Given the description of an element on the screen output the (x, y) to click on. 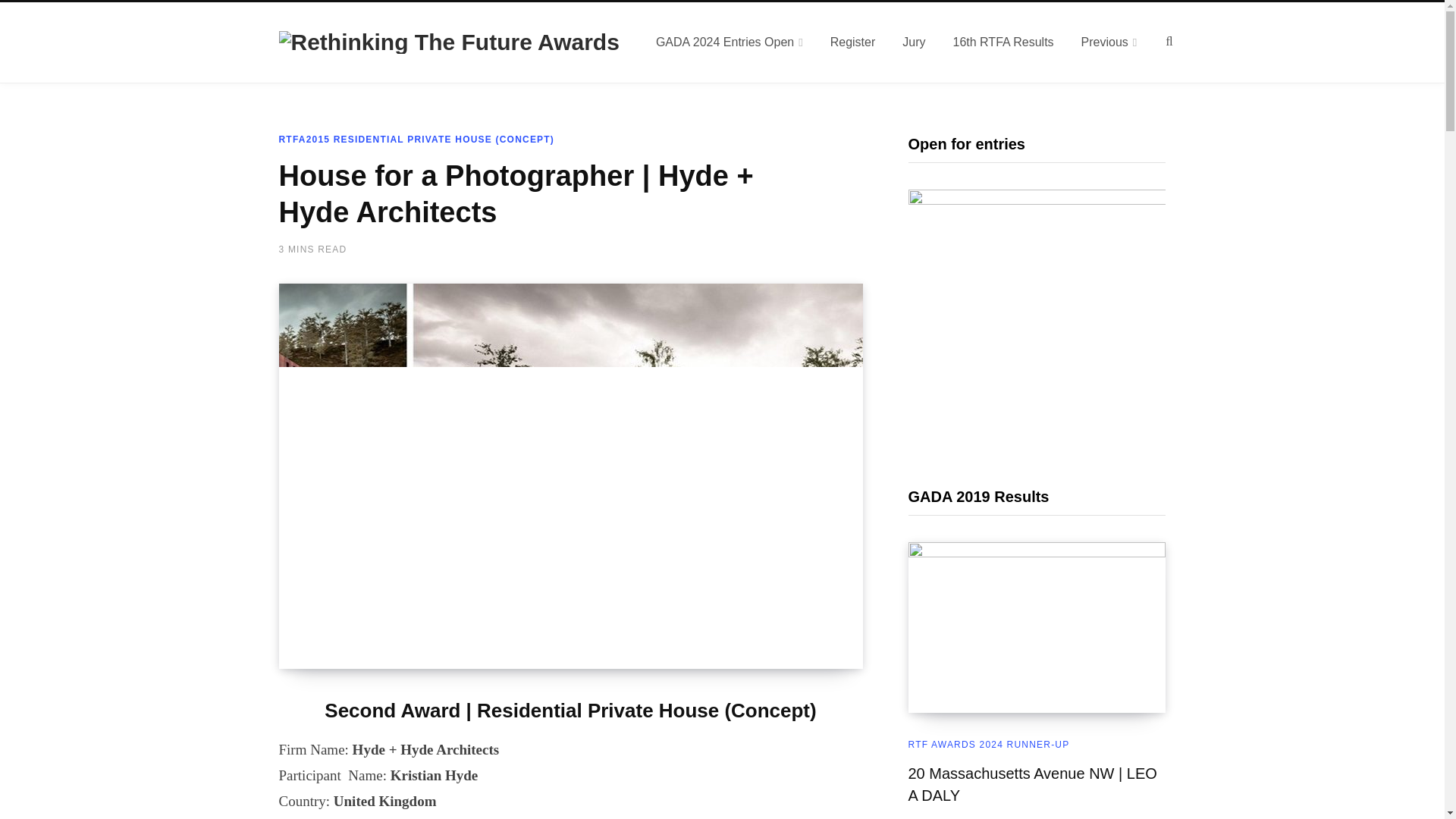
Previous (1109, 41)
Jury (913, 41)
GADA 2024 Entries Open (729, 41)
Register (852, 41)
Rethinking The Future Awards (449, 42)
16th RTFA Results (1003, 41)
